Given the description of an element on the screen output the (x, y) to click on. 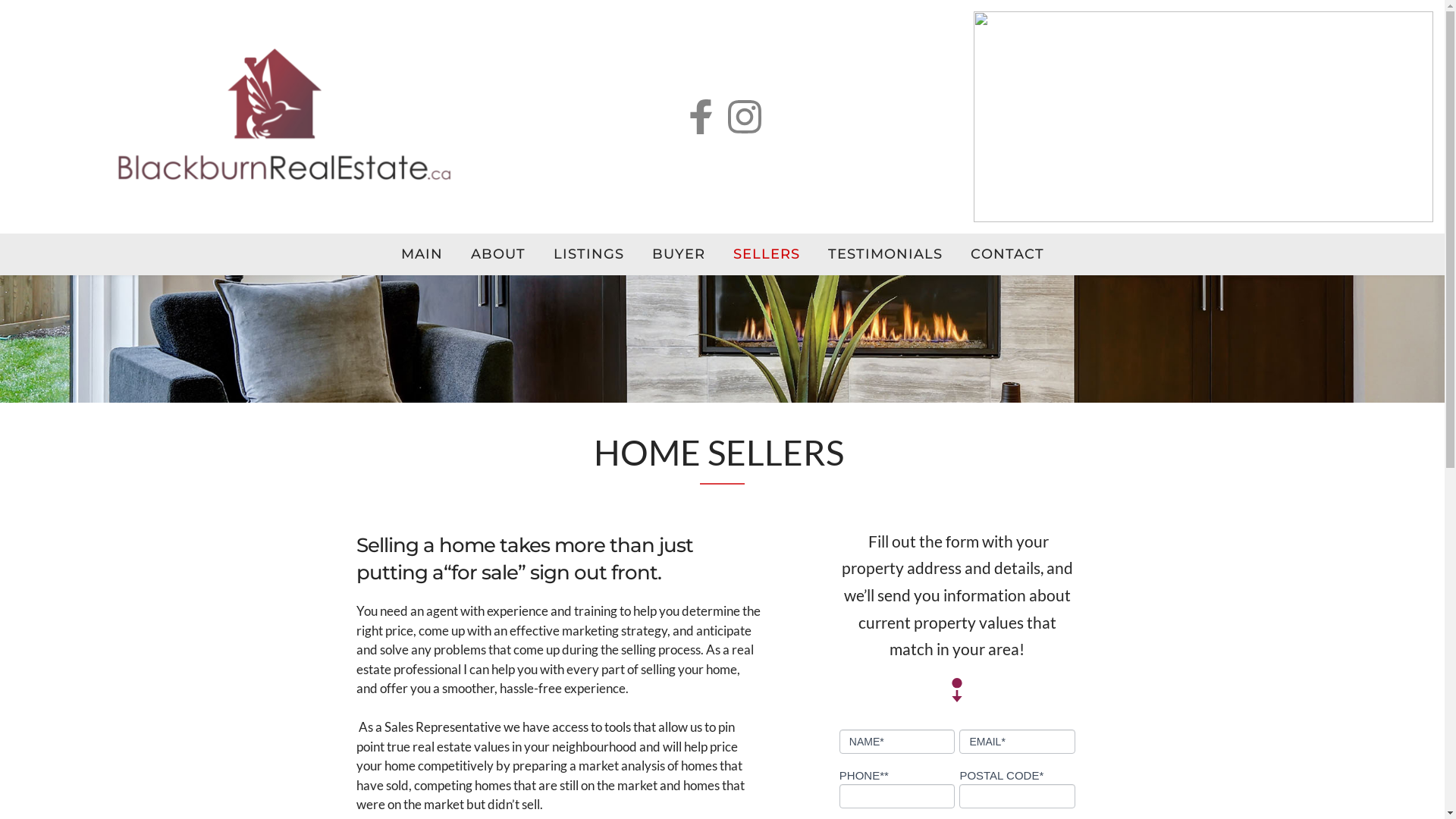
ABOUT Element type: text (498, 253)
BUYER Element type: text (677, 253)
CONTACT Element type: text (1006, 253)
LISTINGS Element type: text (588, 253)
TESTIMONIALS Element type: text (884, 253)
SELLERS Element type: text (766, 253)
MAIN Element type: text (421, 253)
